Given the description of an element on the screen output the (x, y) to click on. 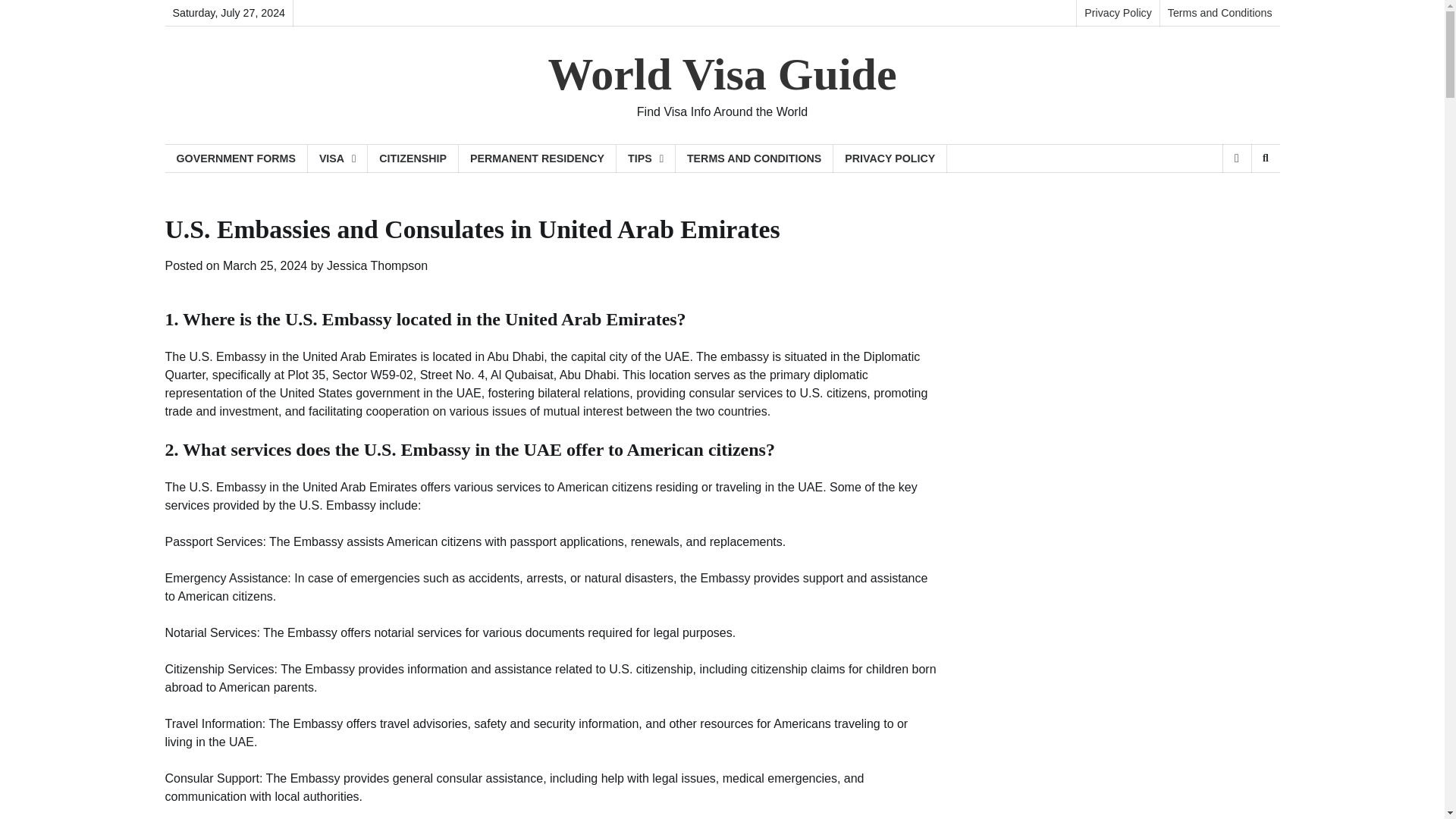
March 25, 2024 (264, 265)
VISA (337, 158)
TIPS (645, 158)
GOVERNMENT FORMS (236, 158)
World Visa Guide (721, 74)
CITIZENSHIP (413, 158)
View Random Post (1236, 158)
Terms and Conditions (1218, 13)
TERMS AND CONDITIONS (753, 158)
Search (1264, 158)
PERMANENT RESIDENCY (536, 158)
Privacy Policy (1116, 13)
Search (1240, 197)
PRIVACY POLICY (889, 158)
